Given the description of an element on the screen output the (x, y) to click on. 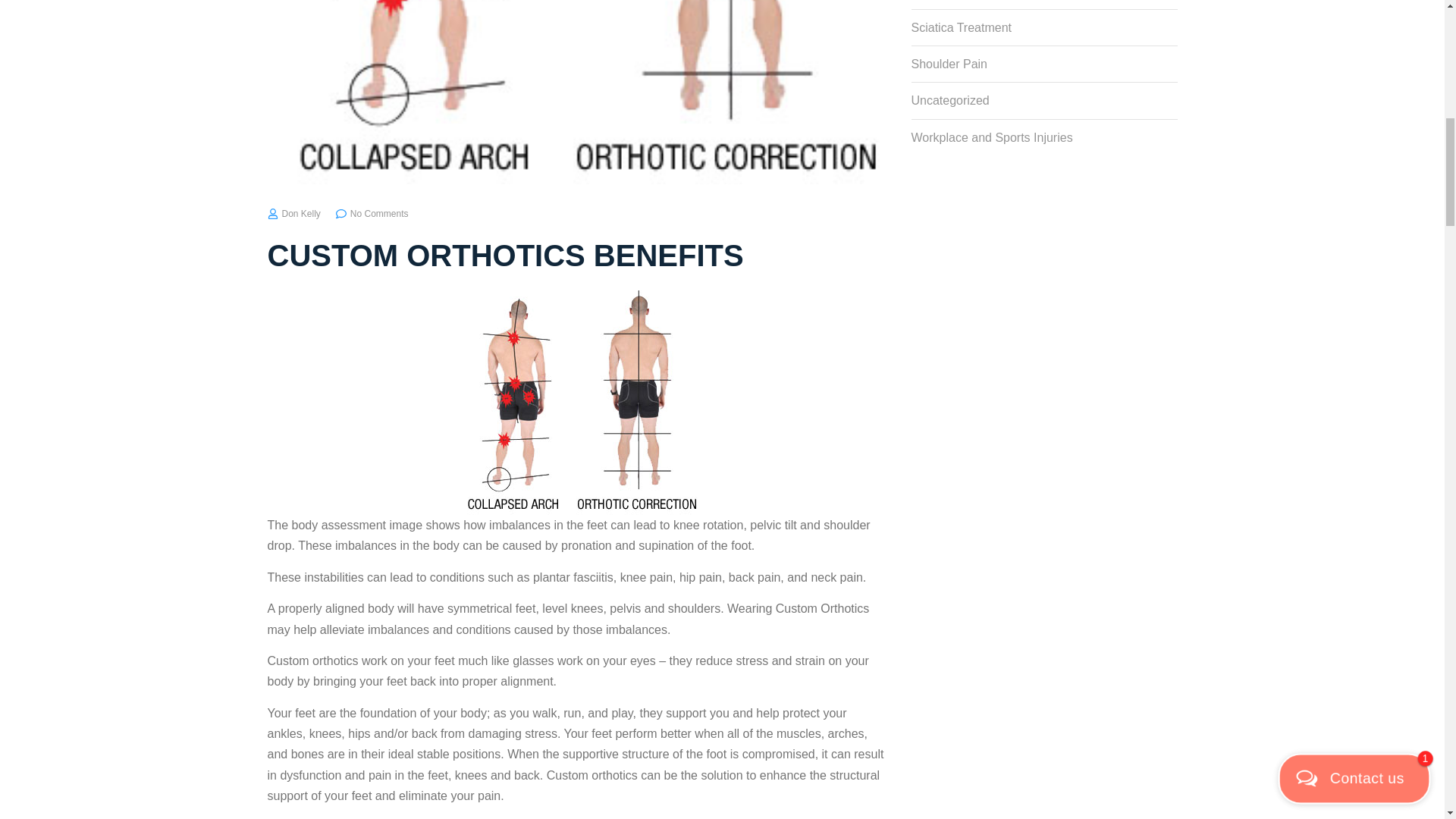
Don Kelly (293, 213)
No Comments (372, 213)
Sciatica Treatment (1044, 23)
